Given the description of an element on the screen output the (x, y) to click on. 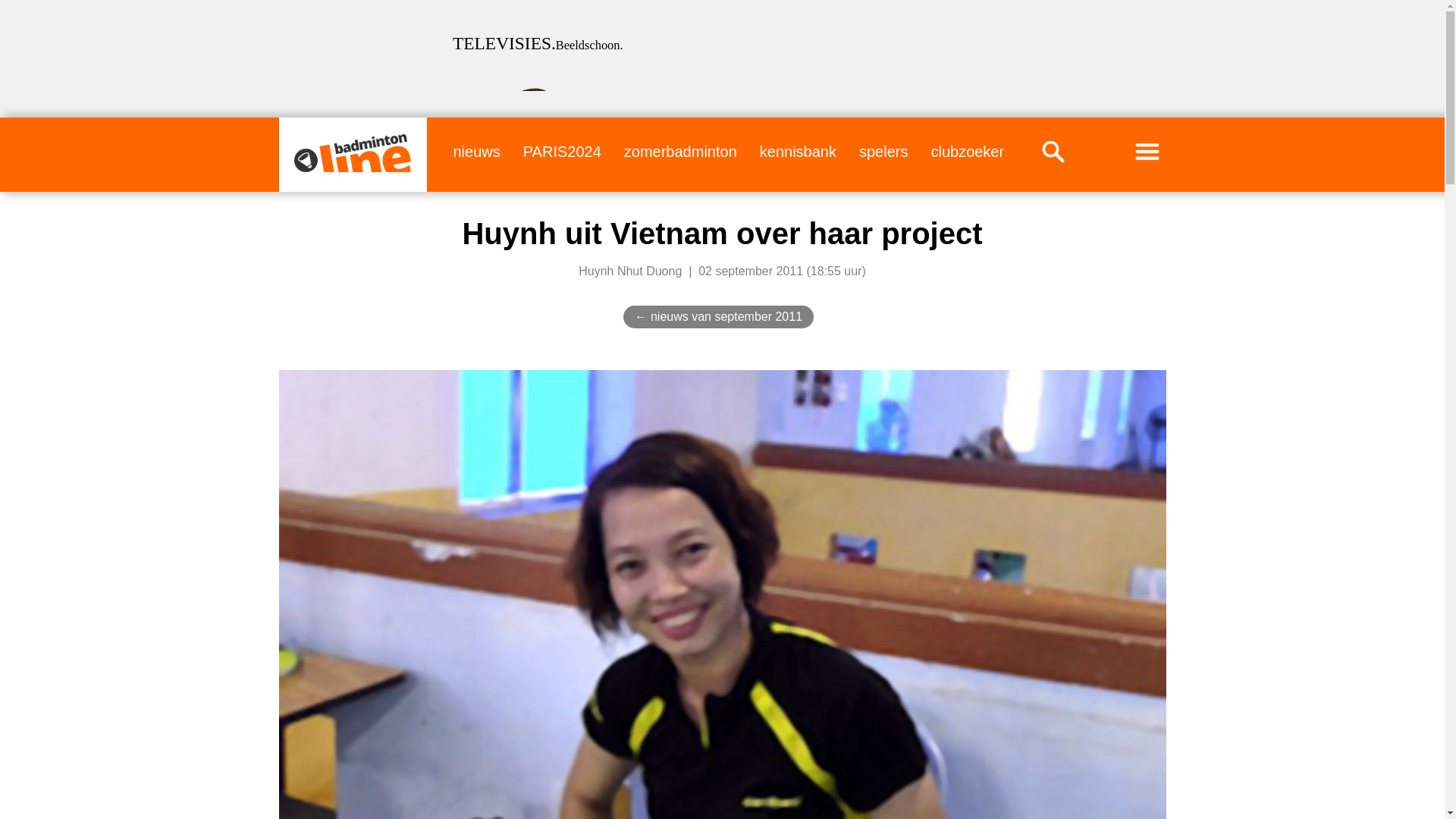
spelers (883, 151)
zoeken (1052, 151)
PARIS2024 (561, 151)
clubzoeker (967, 151)
kennisbank (797, 151)
Olympische Zomerspelen Parijs 2024 (561, 151)
badmintonline.nl (352, 152)
zomerbadminton (680, 151)
zomerbadminton 2024 (680, 151)
nieuws (476, 151)
badmintonnieuws (476, 151)
nieuws van september 2011 (726, 316)
menu (1147, 151)
spelersprofielen (883, 151)
Huynh Nhut Duong (629, 270)
